Given the description of an element on the screen output the (x, y) to click on. 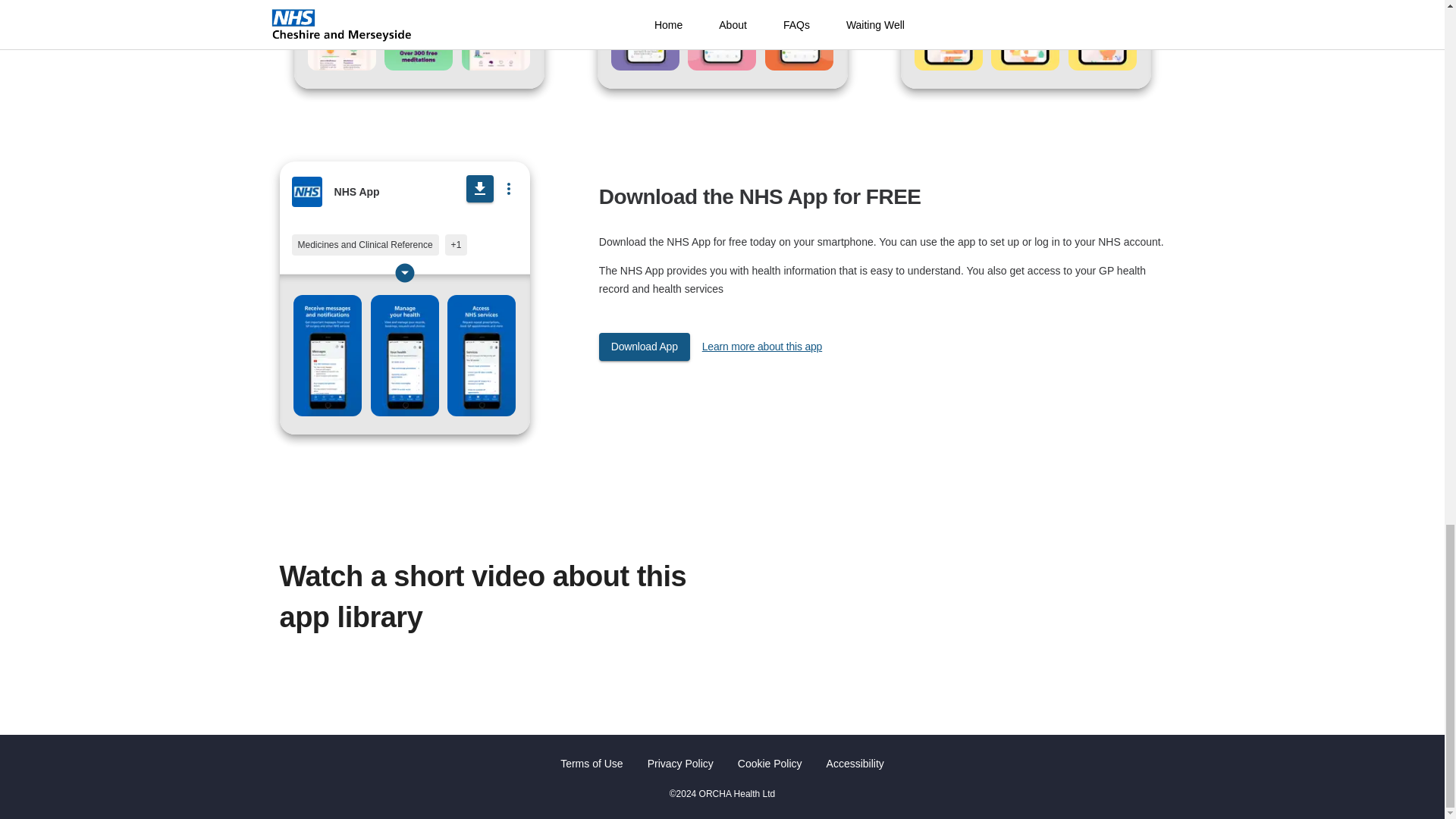
Terms of Use (591, 762)
Learn more about this app (761, 346)
Accessibility (855, 762)
Menu for this app (508, 188)
Privacy Policy (680, 762)
Cookie Policy (770, 762)
Download App (644, 346)
Download this app (479, 188)
